Given the description of an element on the screen output the (x, y) to click on. 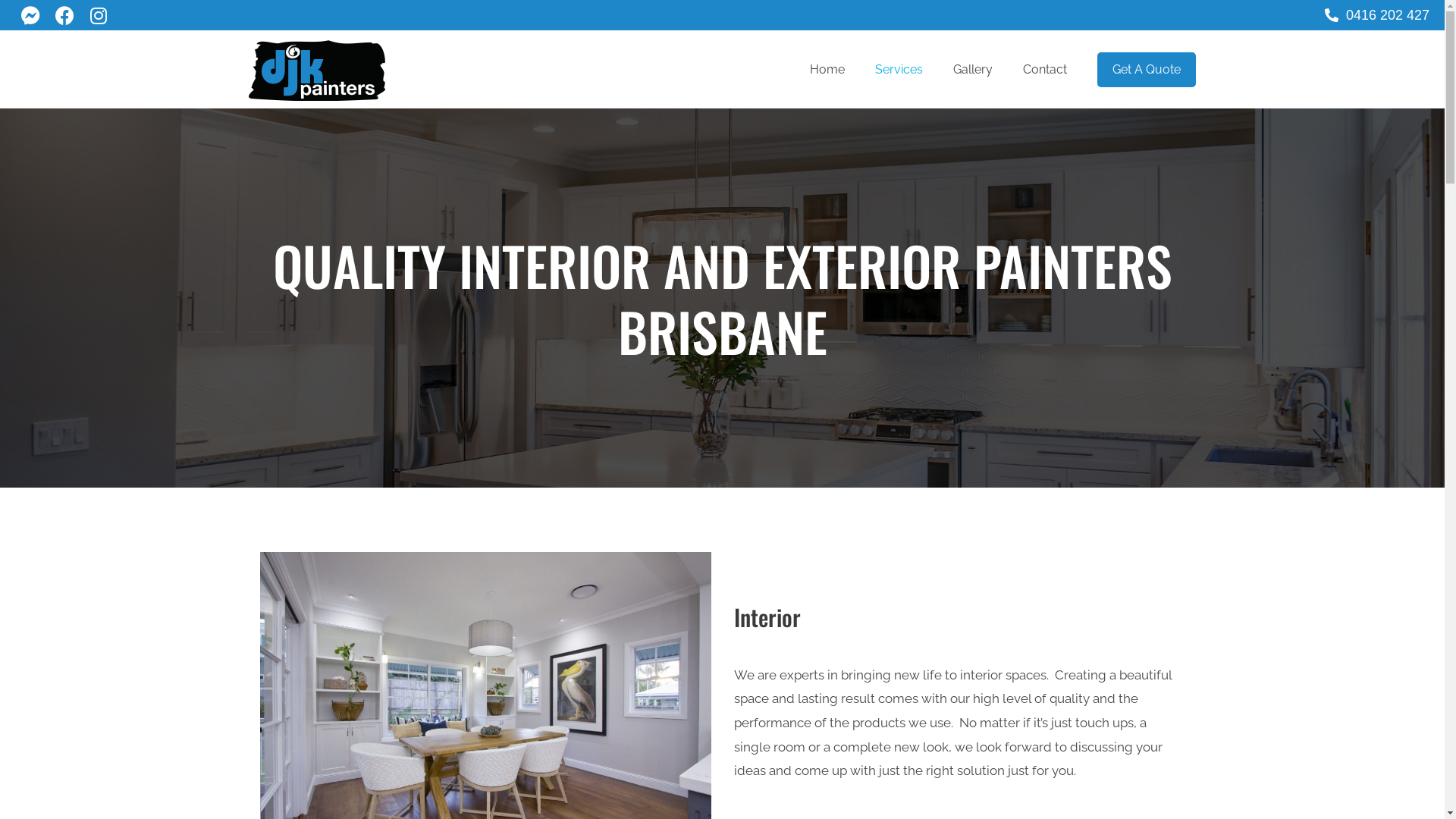
Get A Quote Element type: text (1146, 68)
Gallery Element type: text (972, 68)
Services Element type: text (898, 68)
Home Element type: text (826, 68)
0416 202 427 Element type: text (1376, 14)
Contact Element type: text (1044, 68)
New-Logo-scaled.png Element type: hover (316, 68)
